Given the description of an element on the screen output the (x, y) to click on. 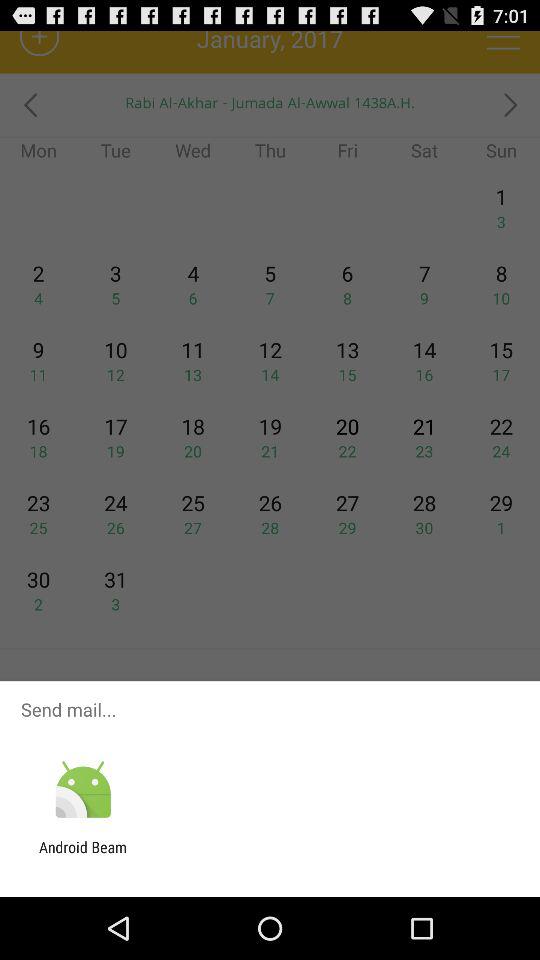
swipe until the android beam icon (83, 856)
